Given the description of an element on the screen output the (x, y) to click on. 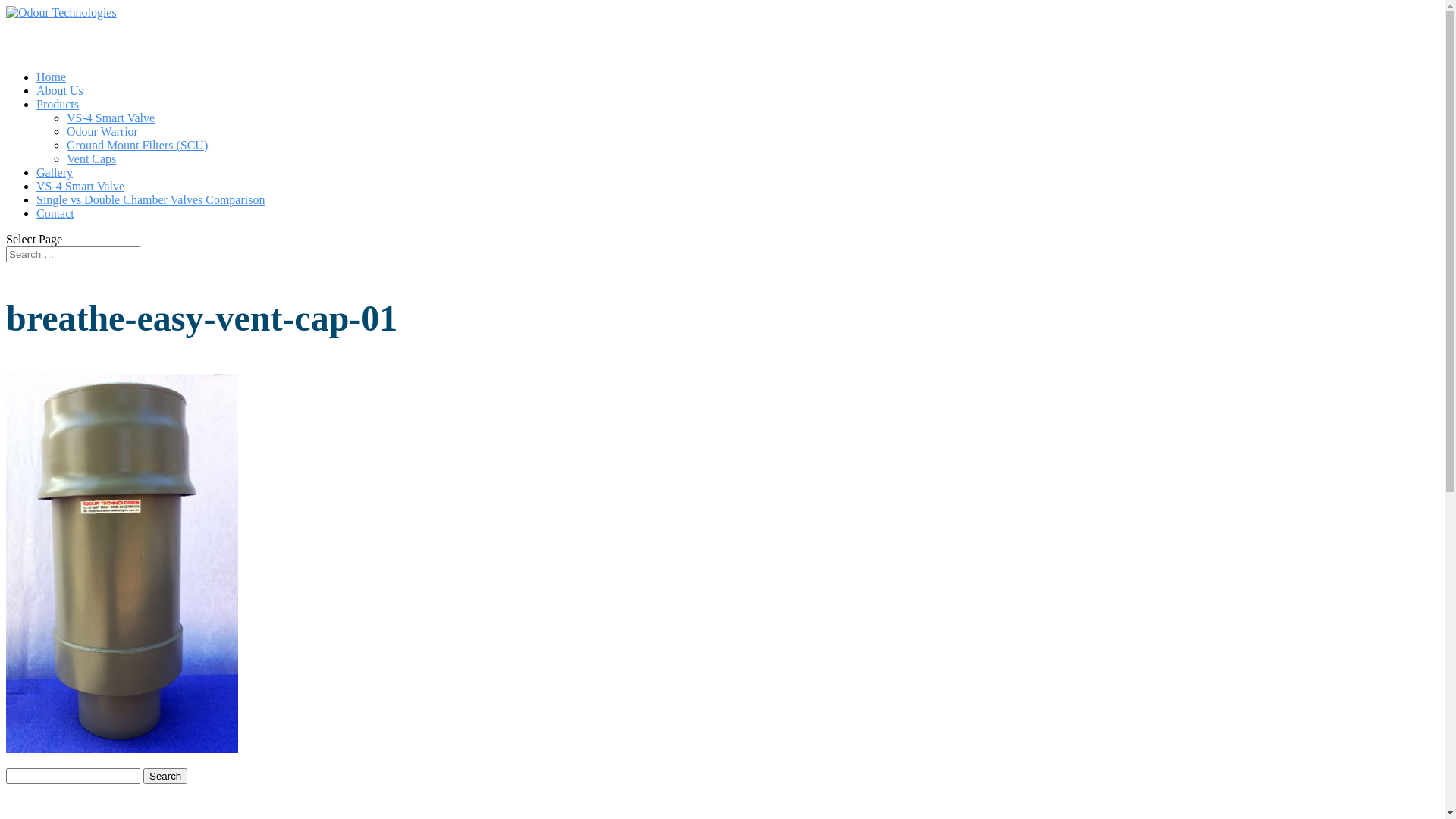
VS-4 Smart Valve Element type: text (110, 117)
Search Element type: text (165, 776)
Contact Element type: text (55, 232)
Vent Caps Element type: text (91, 158)
VS-4 Smart Valve Element type: text (80, 205)
Products Element type: text (57, 123)
Home Element type: text (50, 96)
About Us Element type: text (59, 109)
Odour Warrior Element type: text (102, 131)
Search for: Element type: hover (73, 254)
Single vs Double Chamber Valves Comparison Element type: text (150, 218)
Gallery Element type: text (54, 191)
Ground Mount Filters (SCU) Element type: text (136, 144)
